Given the description of an element on the screen output the (x, y) to click on. 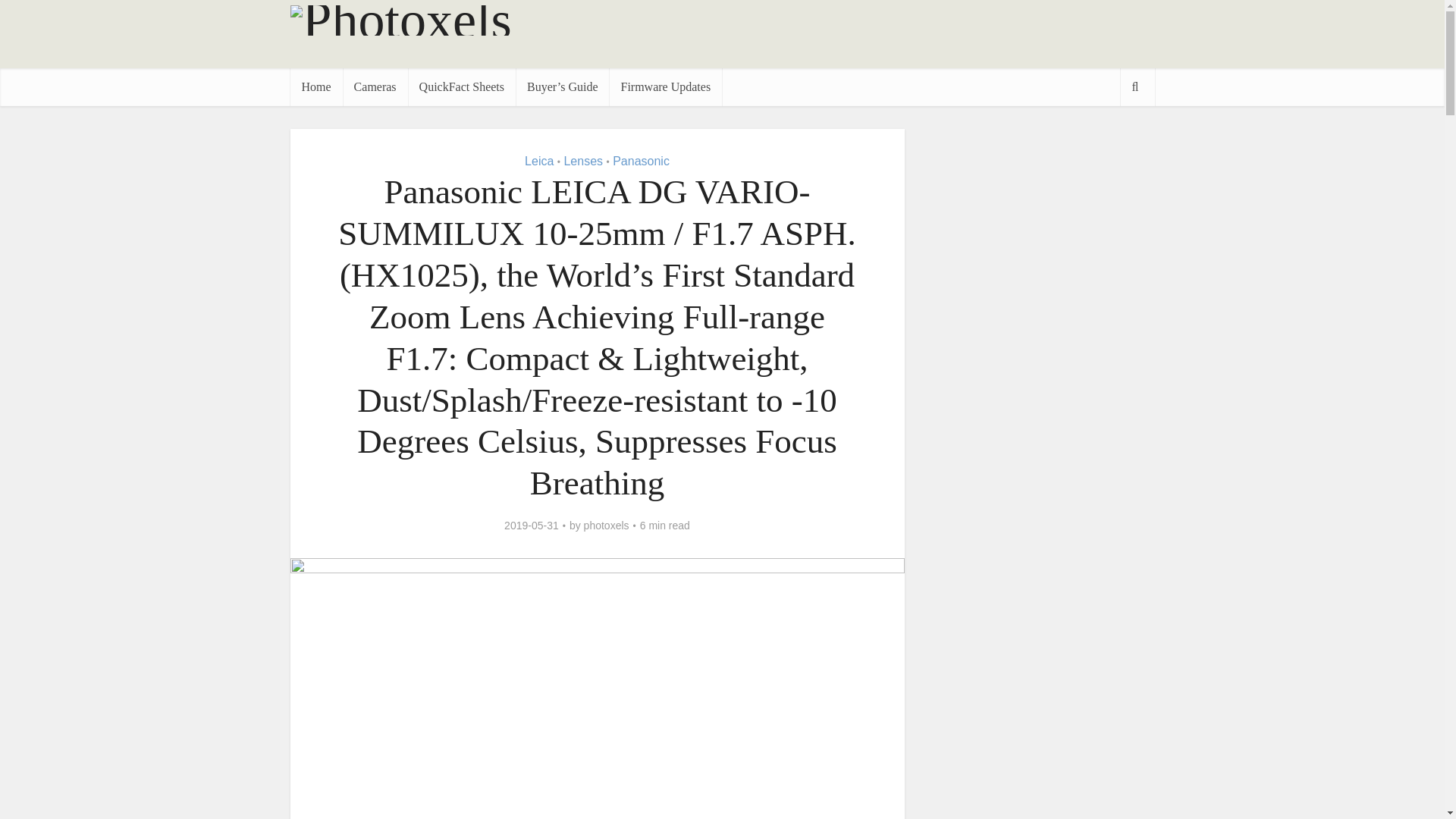
photoxels (605, 525)
Panasonic (640, 160)
Leica (538, 160)
QuickFact Sheets (461, 86)
Lenses (582, 160)
Home (315, 86)
Firmware Updates (665, 86)
Cameras (374, 86)
